Given the description of an element on the screen output the (x, y) to click on. 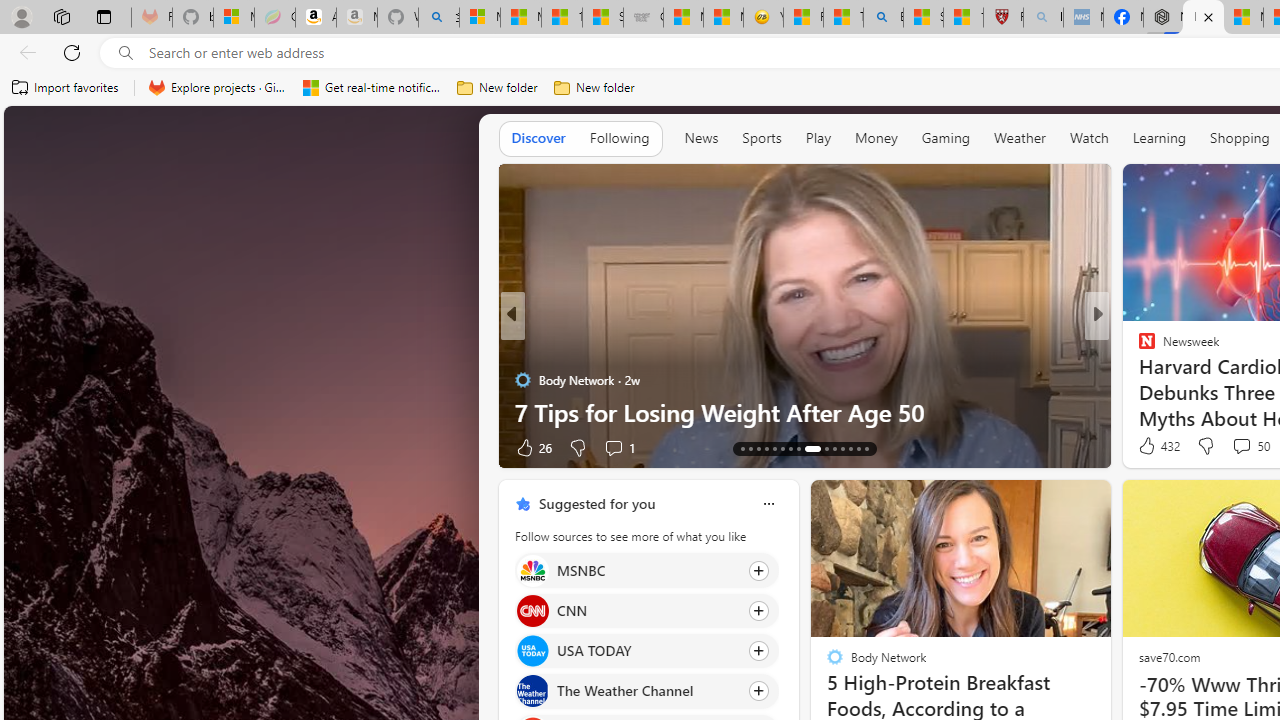
Million Dollar Sense (1138, 380)
View comments 14 Comment (1244, 447)
Ad (1142, 447)
View comments 7 Comment (1234, 447)
Combat Siege (643, 17)
View comments 104 Comment (1247, 447)
Body Network (522, 380)
View comments 7 Comment (1229, 447)
More options (768, 503)
Robert H. Shmerling, MD - Harvard Health (1003, 17)
The Motley Fool (1138, 347)
MSNBC (532, 569)
256 Like (1151, 447)
New tab (1203, 17)
